Given the description of an element on the screen output the (x, y) to click on. 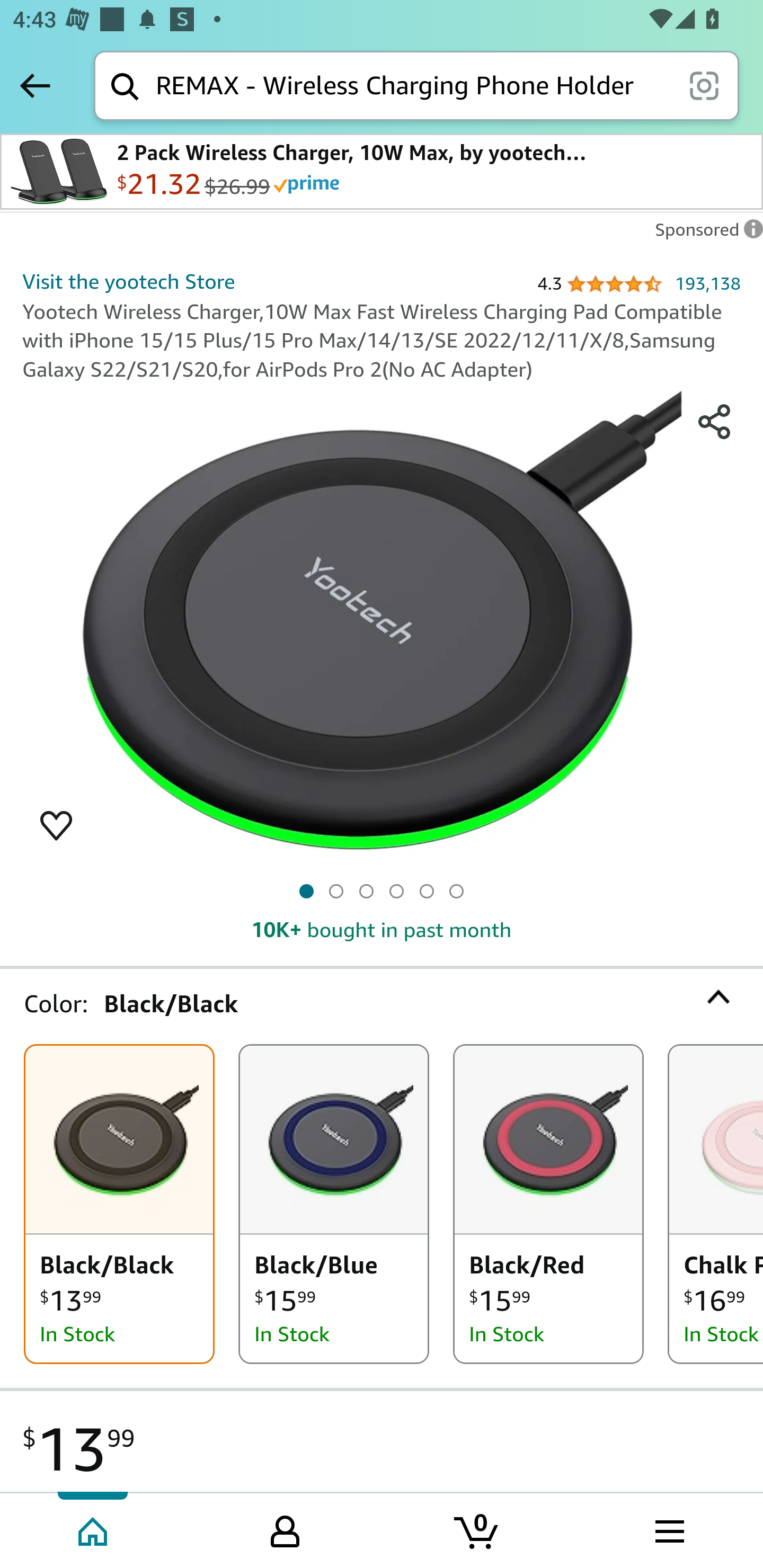
Back (35, 85)
scan it (704, 85)
Leave feedback on Sponsored ad Sponsored  (703, 234)
Visit the yootech Store (128, 281)
Heart to save an item to your default list (56, 824)
Black/Black $13.99 In Stock (118, 1204)
Black/Blue $15.99 In Stock (333, 1204)
Black/Red $15.99 In Stock (548, 1204)
Home Tab 1 of 4 (94, 1529)
Your Amazon.com Tab 2 of 4 (285, 1529)
Cart 0 item Tab 3 of 4 0 (477, 1529)
Browse menu Tab 4 of 4 (668, 1529)
